Given the description of an element on the screen output the (x, y) to click on. 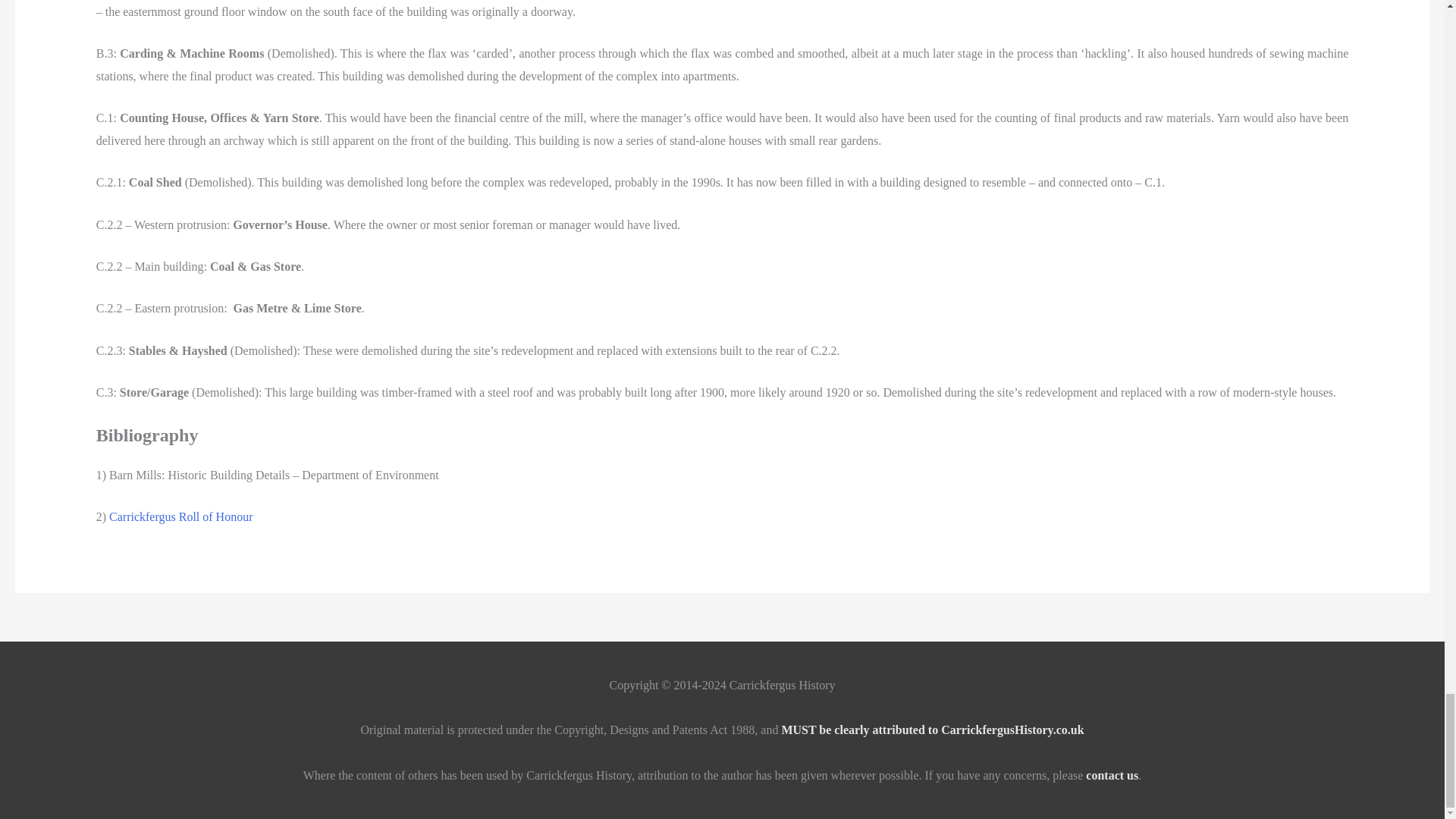
Carrickfergus Roll of Honour (180, 516)
Carrickfergus Roll of Honour (180, 516)
contact us (1112, 775)
MUST be clearly attributed to CarrickfergusHistory.co.uk (931, 729)
